Given the description of an element on the screen output the (x, y) to click on. 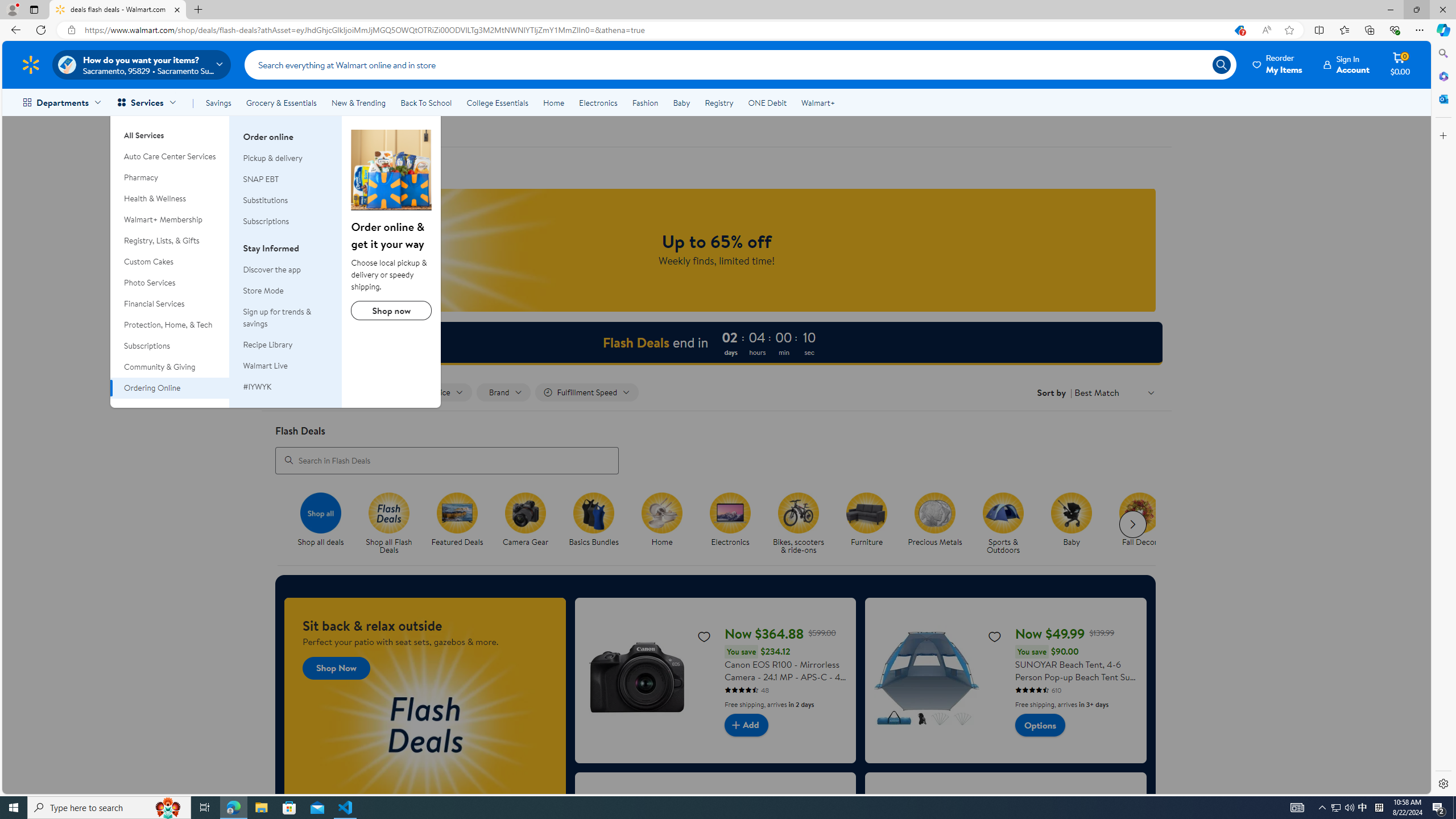
Registry, Lists, & Gifts (170, 240)
Pickup & delivery (286, 158)
Basics Bundles (597, 524)
Subscriptions (286, 221)
Flash Deals Shop all Flash Deals (389, 524)
Financial Services (170, 303)
Community & Giving (170, 366)
Pharmacy (170, 177)
Baby (1071, 512)
Pharmacy (170, 177)
Grocery & Essentials (280, 102)
Grocery & Essentials (280, 102)
